Given the description of an element on the screen output the (x, y) to click on. 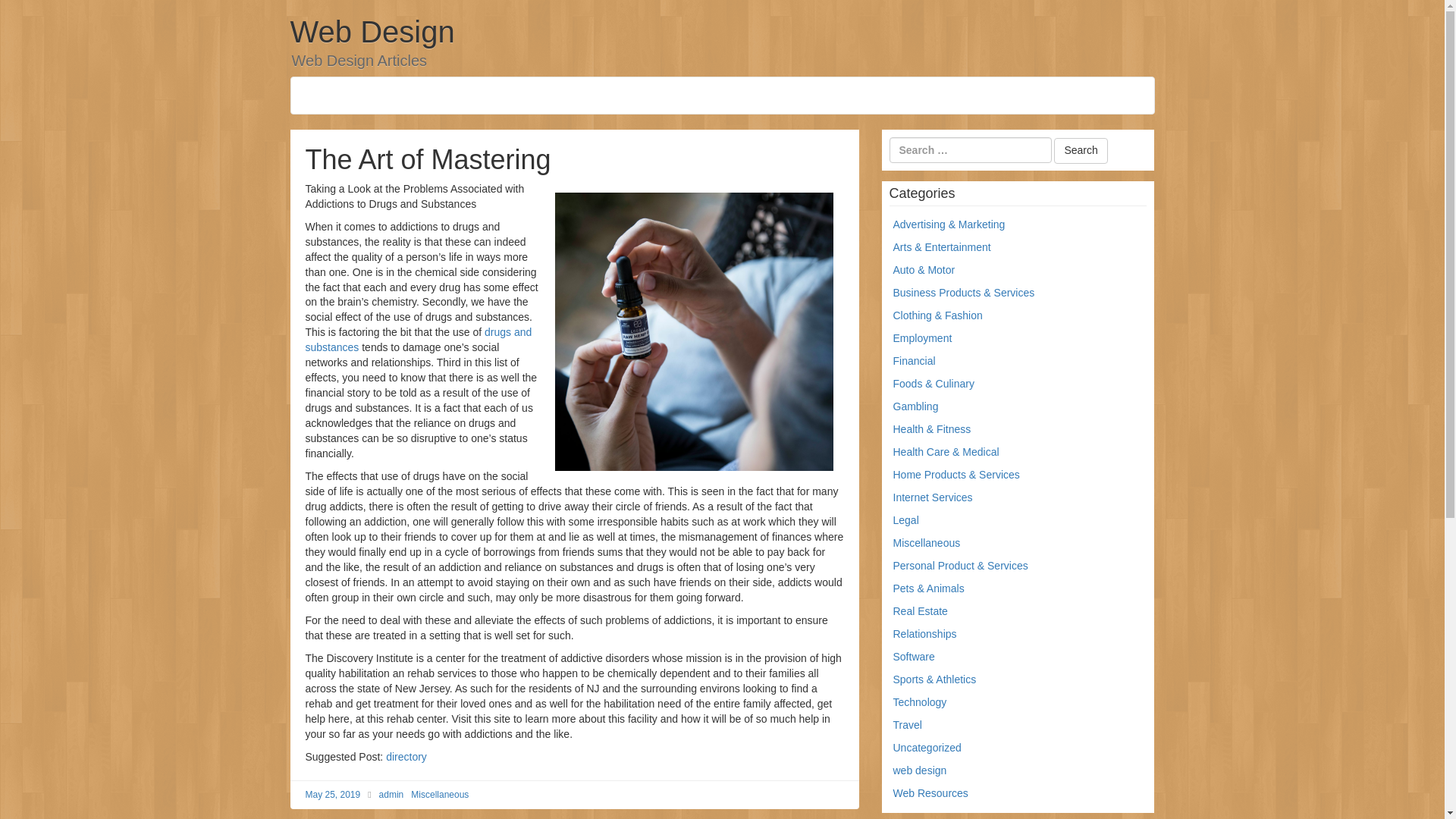
Search for: (969, 149)
Internet Services (932, 497)
directory (405, 756)
Web Resources (930, 793)
Employment (922, 337)
admin (391, 794)
Miscellaneous (926, 542)
Technology (920, 702)
Travel (907, 725)
Search (1080, 150)
Gambling (916, 406)
Relationships (924, 633)
Real Estate (920, 611)
drugs and substances (417, 338)
Miscellaneous (439, 794)
